Given the description of an element on the screen output the (x, y) to click on. 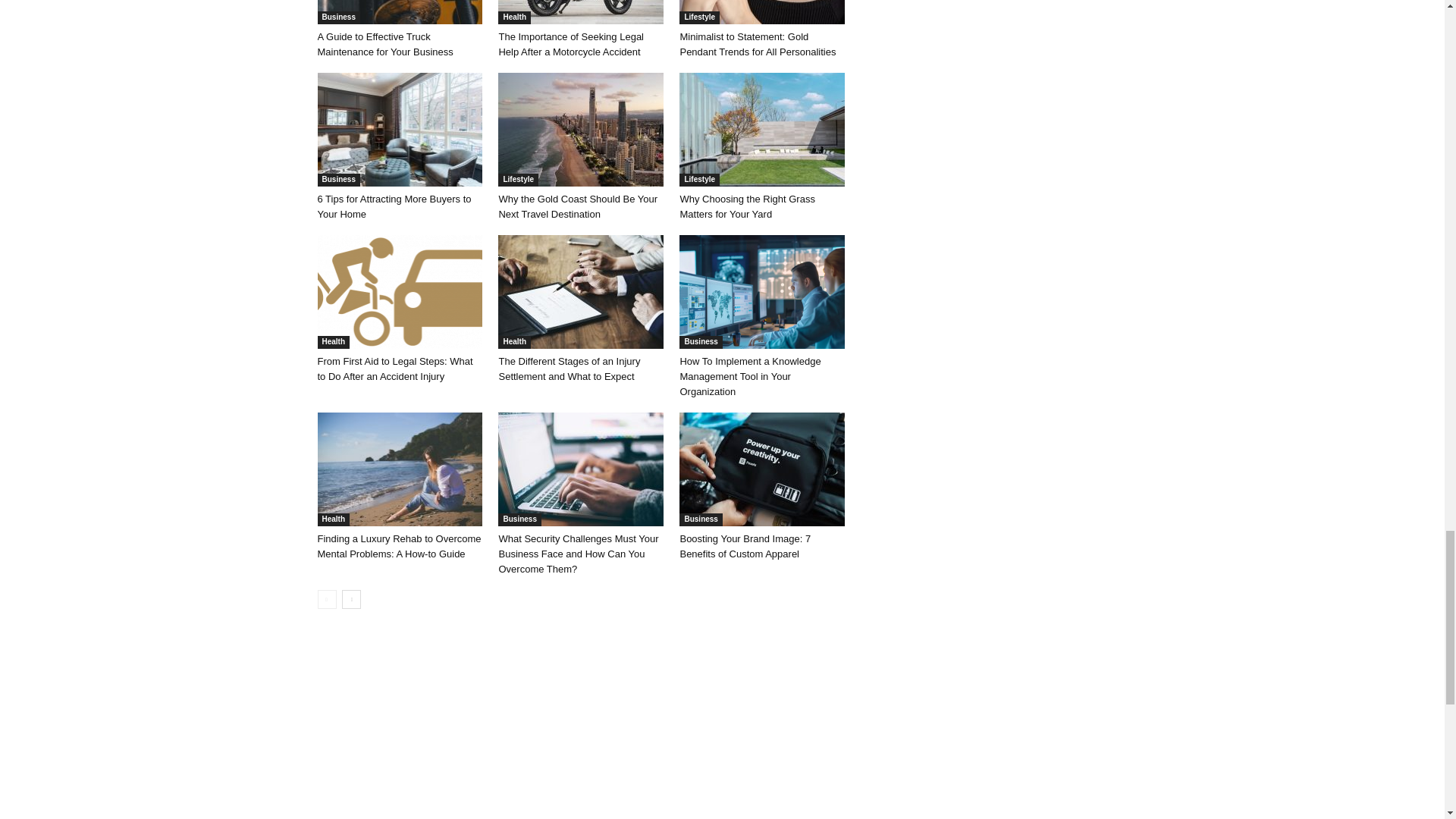
A Guide to Effective Truck Maintenance for Your Business (399, 12)
A Guide to Effective Truck Maintenance for Your Business (384, 44)
6 Tips for Attracting More Buyers to Your Home (399, 129)
